Given the description of an element on the screen output the (x, y) to click on. 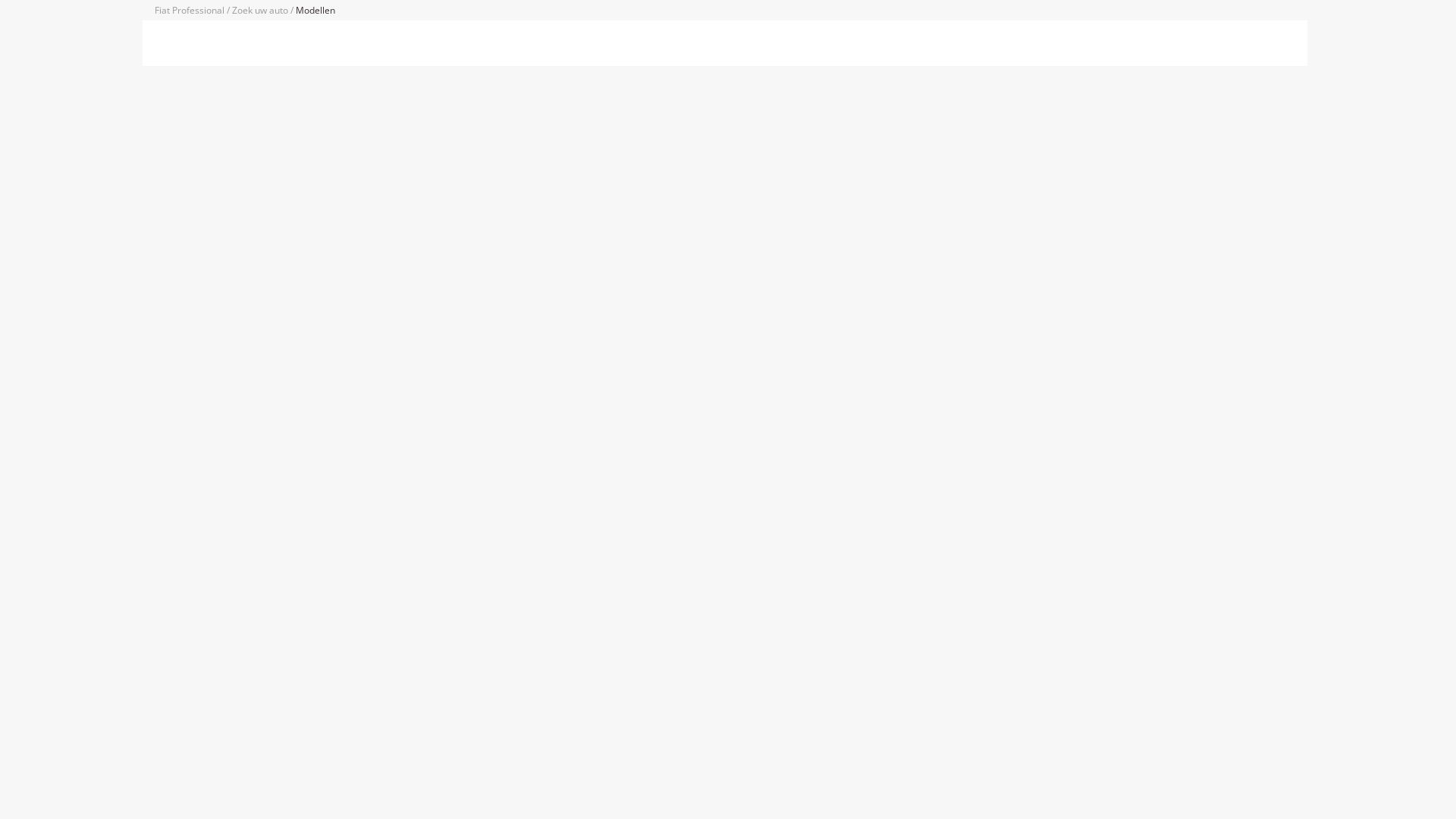
Modellen Element type: text (315, 9)
Fiat Professional Element type: text (190, 9)
Zoek uw auto Element type: text (261, 9)
